Given the description of an element on the screen output the (x, y) to click on. 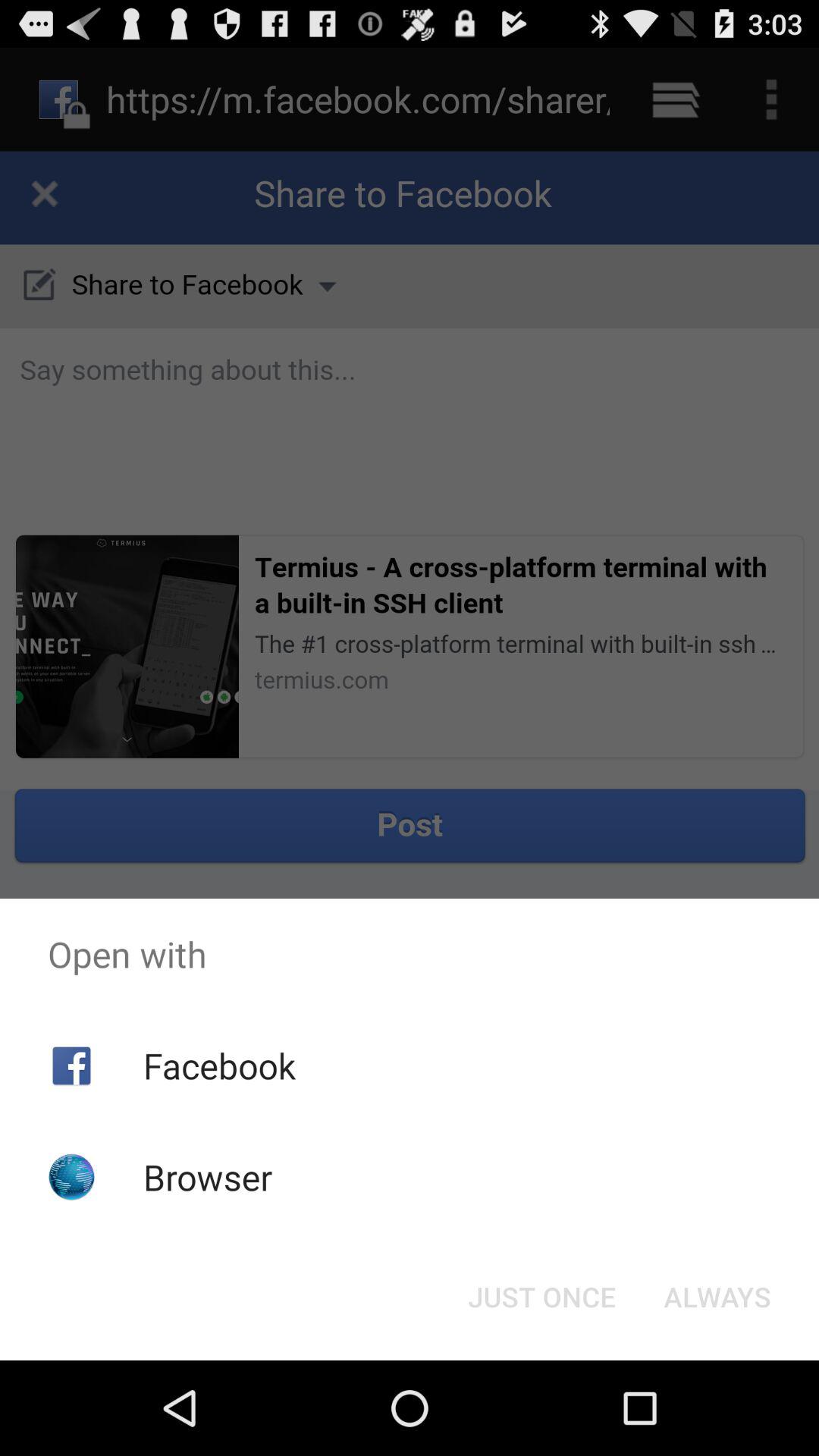
select item below the open with (541, 1296)
